Given the description of an element on the screen output the (x, y) to click on. 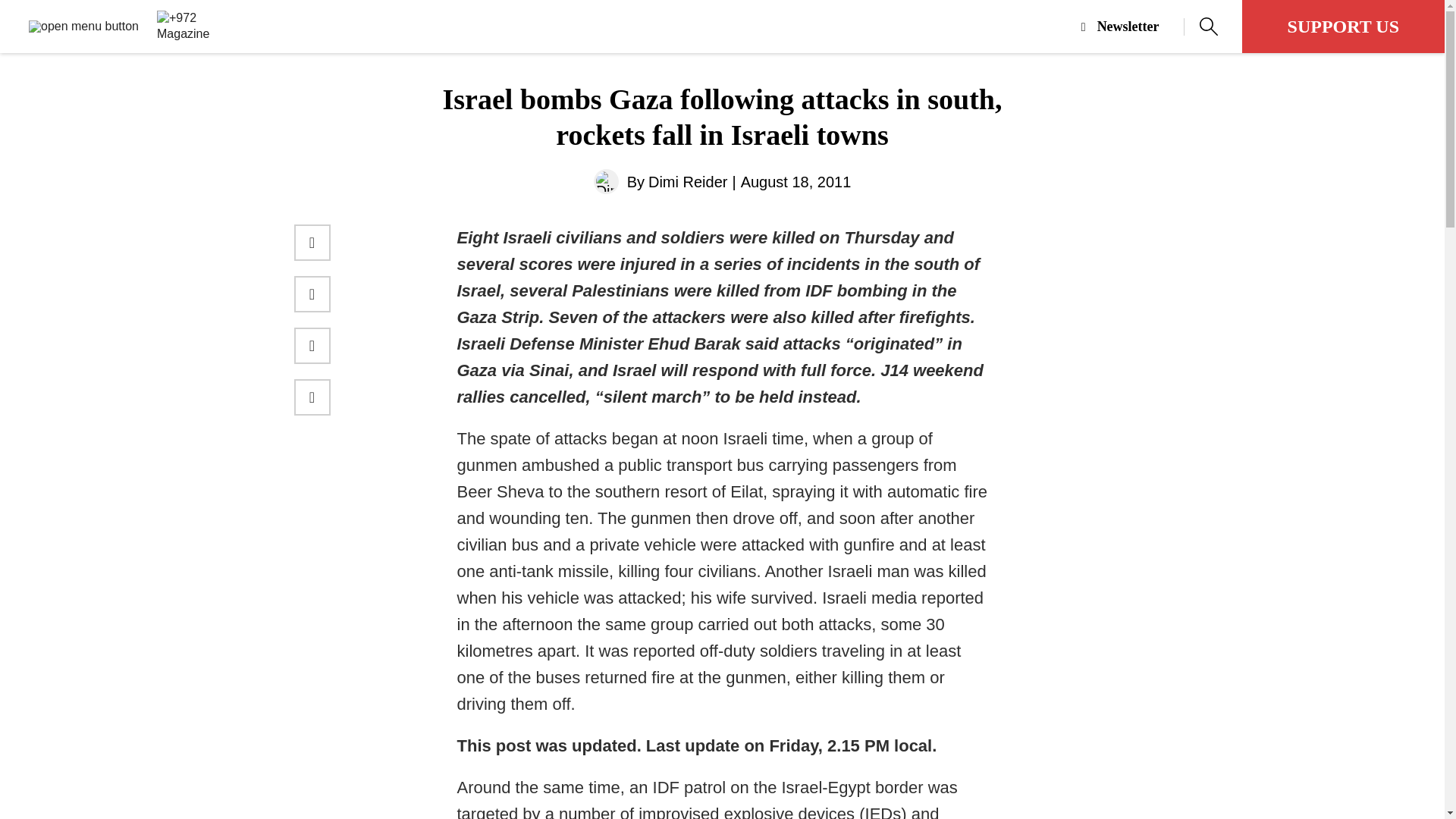
Dimi Reider (686, 181)
Dimi Reider (606, 181)
Newsletter (1133, 27)
Dimi Reider (686, 181)
